Given the description of an element on the screen output the (x, y) to click on. 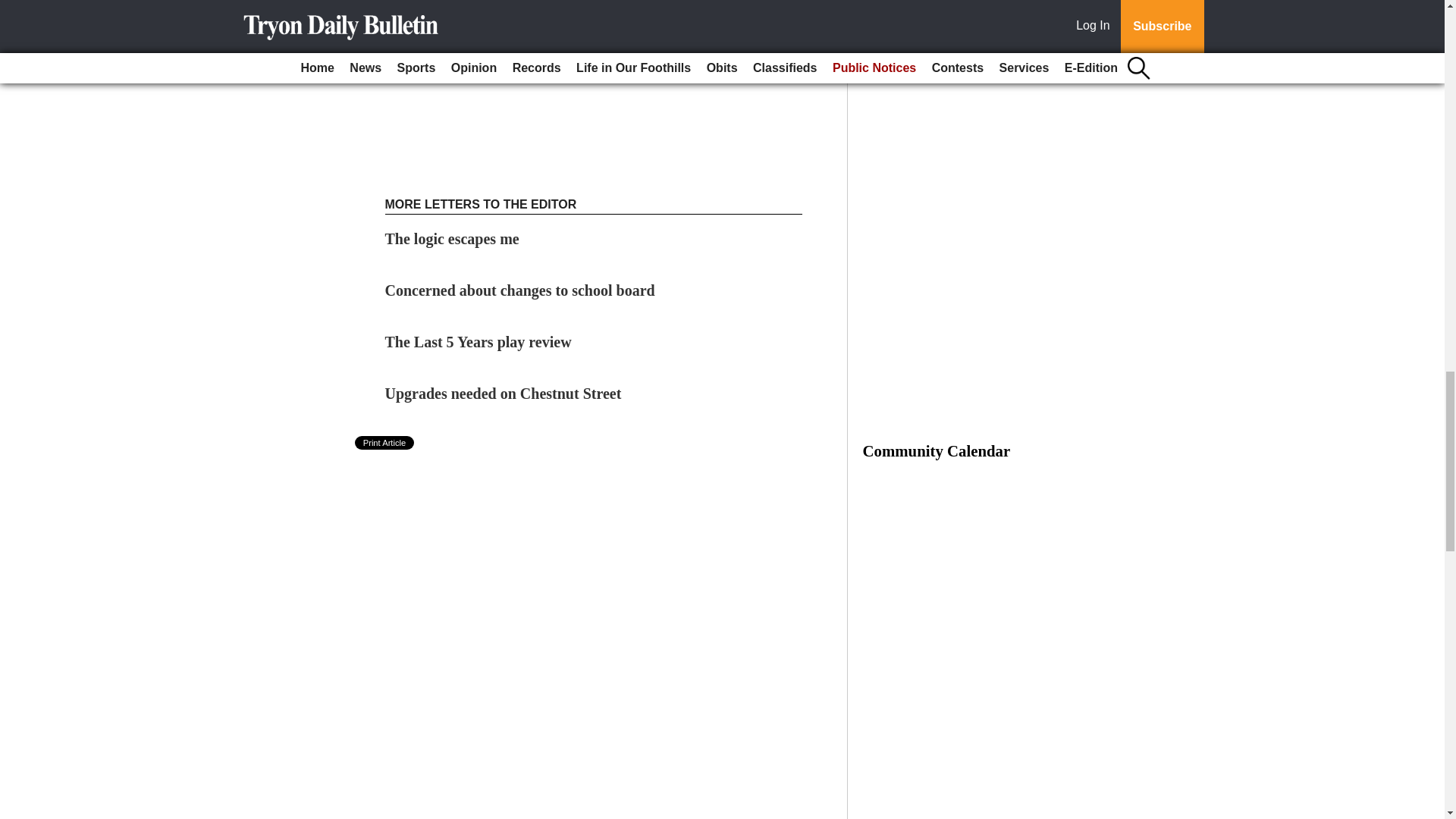
The Last 5 Years play review (478, 341)
The logic escapes me  (453, 238)
Upgrades needed on Chestnut Street (503, 393)
Concerned about changes to school board (520, 289)
